Given the description of an element on the screen output the (x, y) to click on. 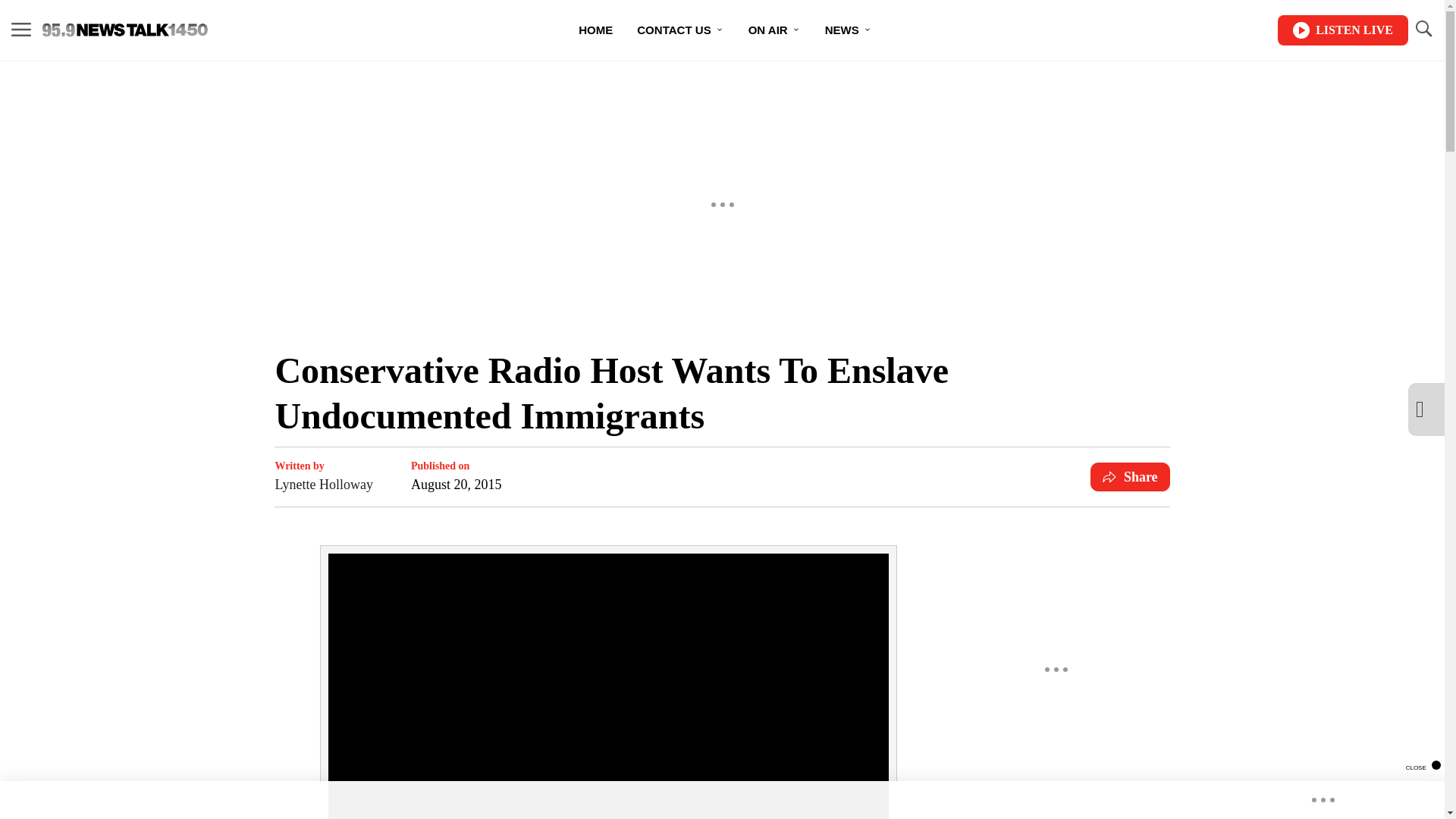
Lynette Holloway (323, 484)
Share (1130, 476)
TOGGLE SEARCH (1422, 30)
ON AIR (774, 30)
CONTACT US (679, 30)
NEWS (847, 30)
HOME (595, 30)
LISTEN LIVE (1342, 30)
MENU (20, 29)
MENU (20, 30)
